Given the description of an element on the screen output the (x, y) to click on. 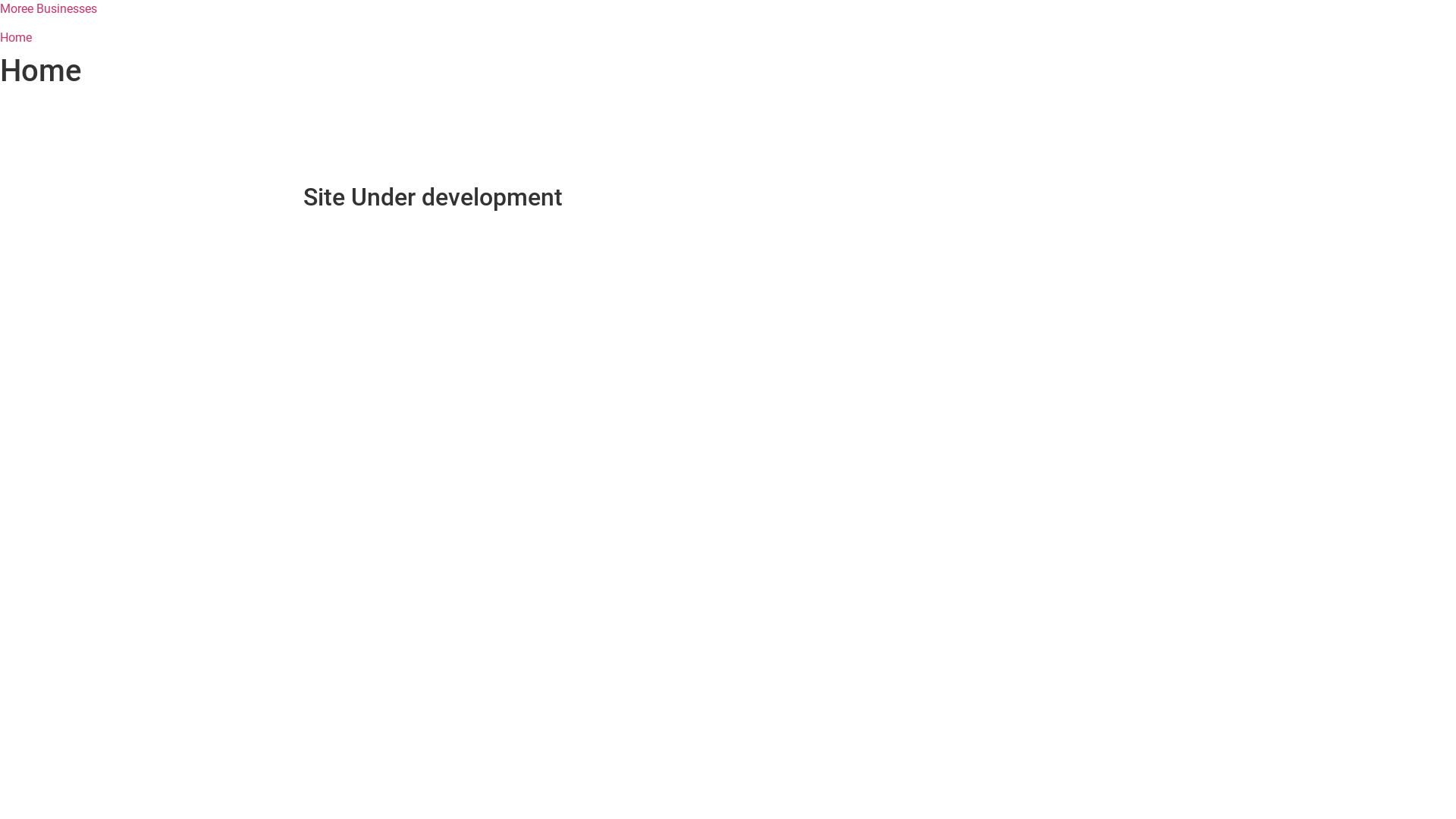
Home Element type: text (15, 37)
Moree Businesses Element type: text (48, 8)
